Given the description of an element on the screen output the (x, y) to click on. 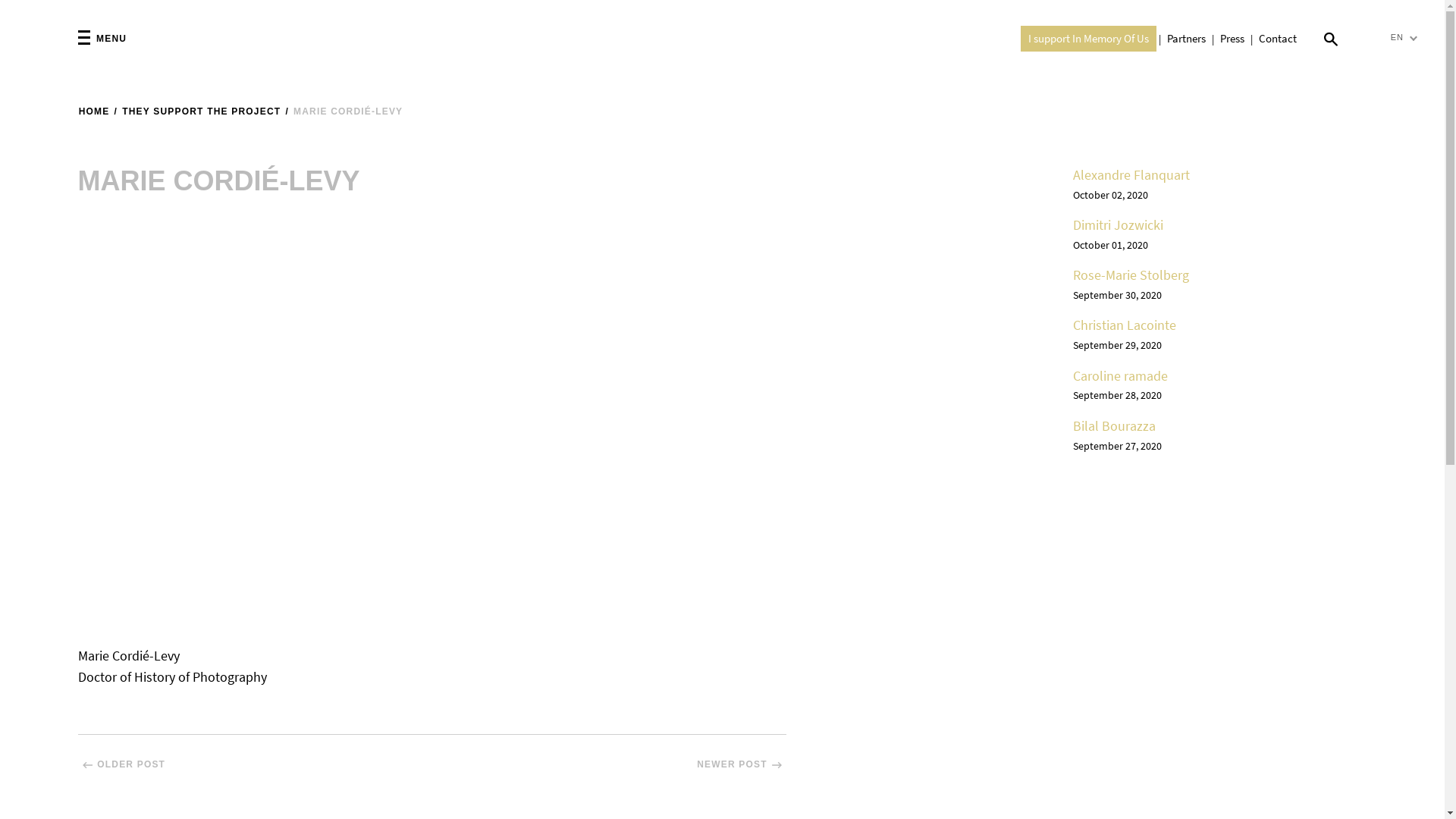
Alexandre Flanquart Element type: text (1131, 174)
Christian Lacointe Element type: text (1124, 324)
THEY SUPPORT THE PROJECT Element type: text (201, 111)
Contact Element type: text (1277, 38)
MENU Element type: text (101, 38)
NEWER POST Element type: text (609, 764)
I support In Memory Of Us Element type: text (1088, 38)
Dimitri Jozwicki Element type: text (1118, 224)
I support In Memory Of Us Element type: text (1088, 38)
Partners Element type: text (1186, 38)
Bilal Bourazza Element type: text (1114, 425)
Press Element type: text (1232, 38)
Rose-Marie Stolberg Element type: text (1131, 274)
Caroline ramade Element type: text (1120, 375)
HOME Element type: text (93, 111)
OLDER POST Element type: text (254, 764)
